Given the description of an element on the screen output the (x, y) to click on. 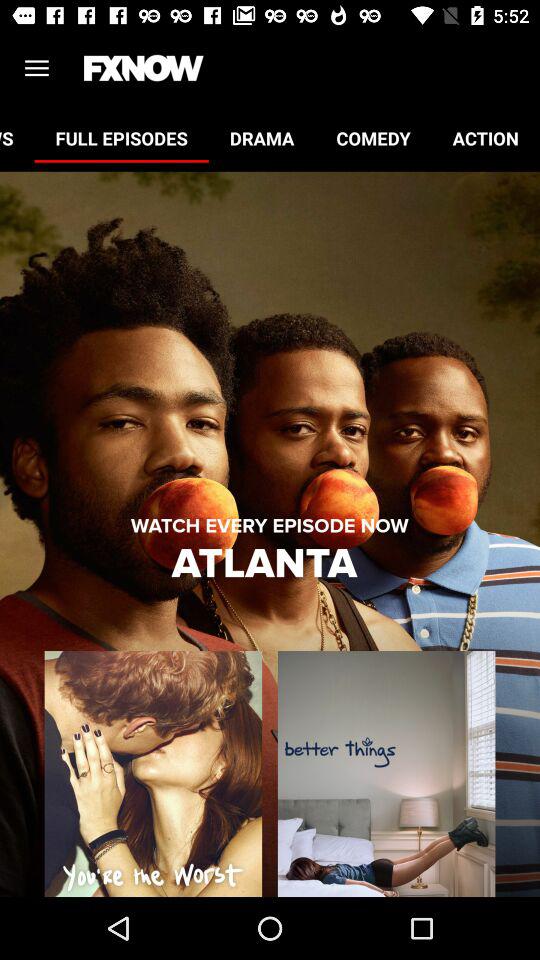
choose item above the all shows icon (36, 68)
